Given the description of an element on the screen output the (x, y) to click on. 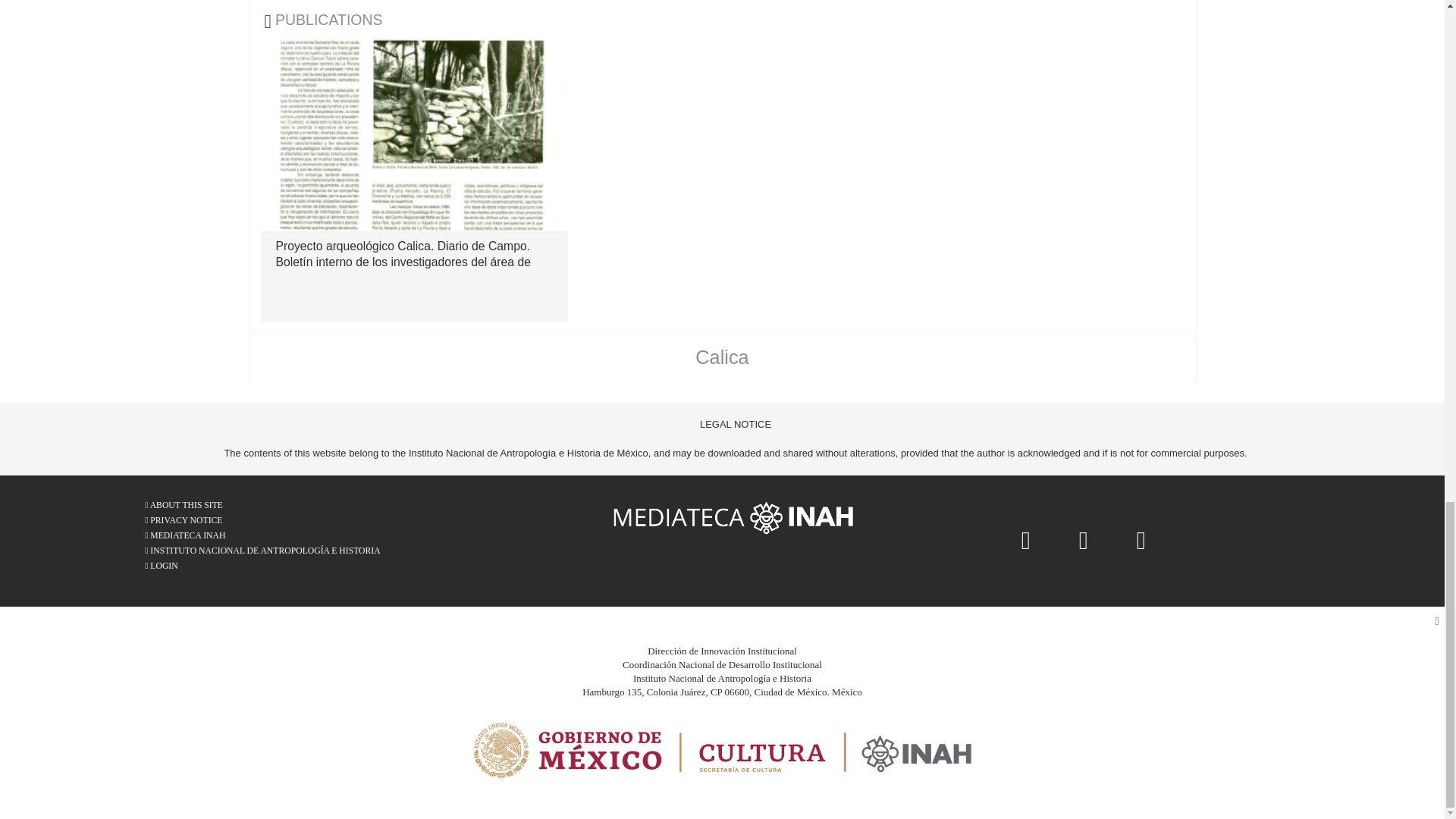
MEDIATECA INAH (262, 535)
Calica (721, 356)
Acceso a usuarios (262, 566)
Go to INAH web site (262, 550)
LOGIN (262, 566)
ABOUT THIS SITE (262, 505)
Mediateca INAH (735, 515)
Go to intitutional repository Mediateca INAH (262, 535)
PRIVACY NOTICE (262, 520)
PUBLICATIONS (366, 20)
